Given the description of an element on the screen output the (x, y) to click on. 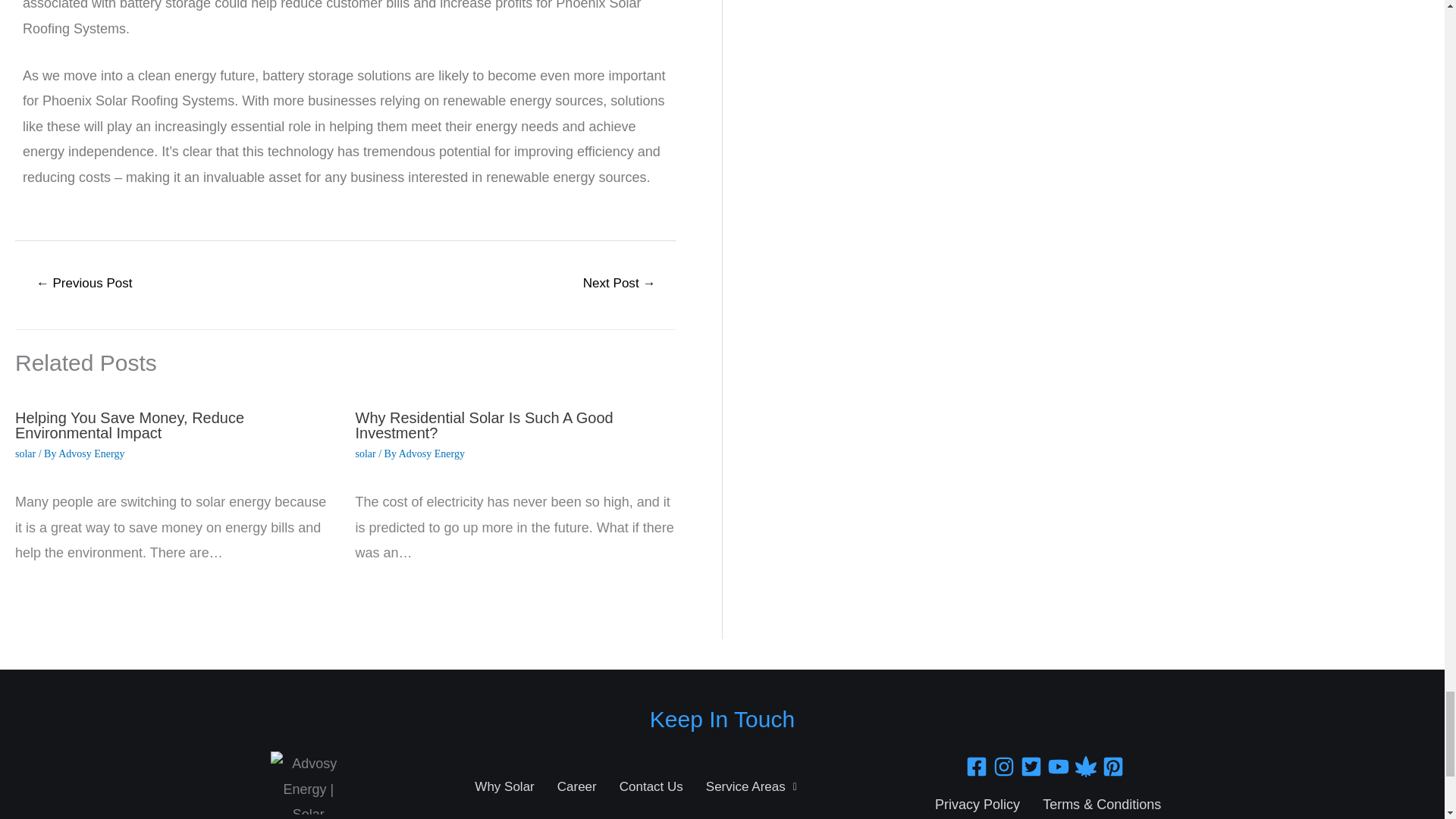
View all posts by Advosy Energy (90, 453)
Why Residential Solar Is Such A Good Investment? (483, 425)
Helping You Save Money, Reduce Environmental Impact (129, 425)
Advosy Energy (90, 453)
solar (365, 453)
solar (24, 453)
Advosy Energy (431, 453)
View all posts by Advosy Energy (431, 453)
